Given the description of an element on the screen output the (x, y) to click on. 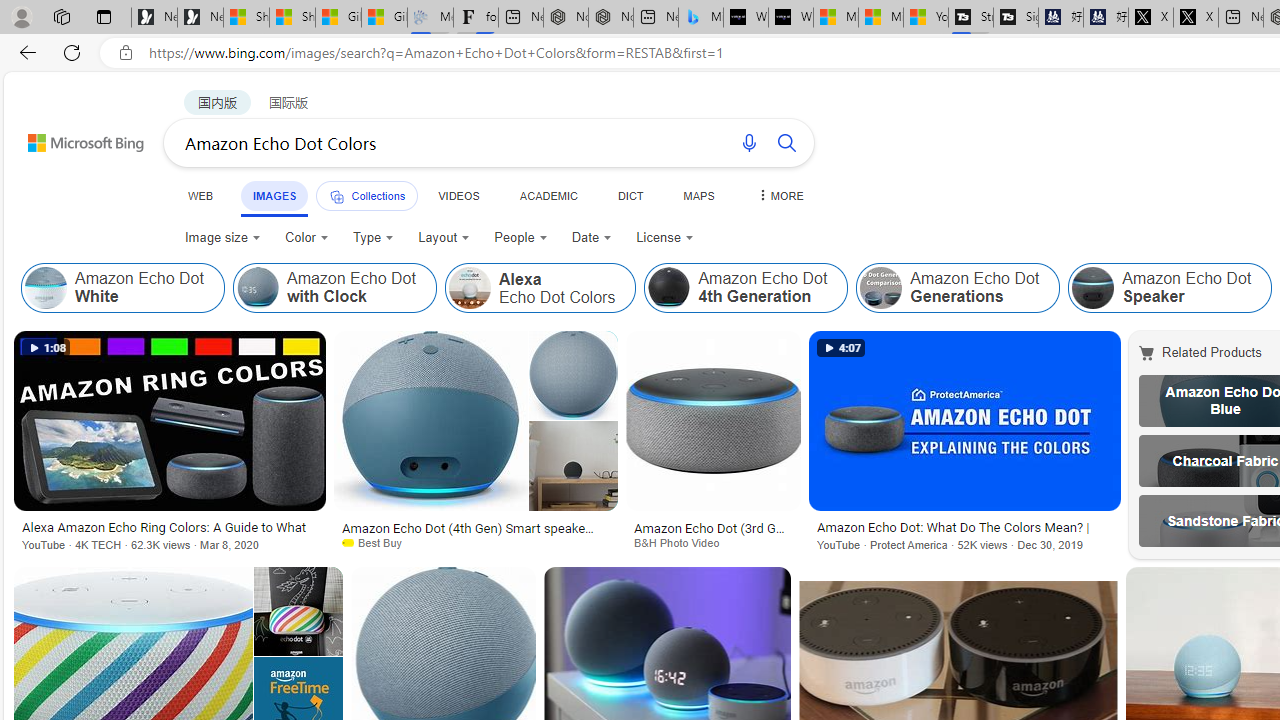
Layout (443, 237)
Alexa Echo Dot Colors (469, 287)
Class: b_pri_nav_svg (336, 196)
B&H Photo Video (713, 542)
Nordace - #1 Japanese Best-Seller - Siena Smart Backpack (610, 17)
Search button (786, 142)
ACADEMIC (548, 195)
License (664, 237)
